Given the description of an element on the screen output the (x, y) to click on. 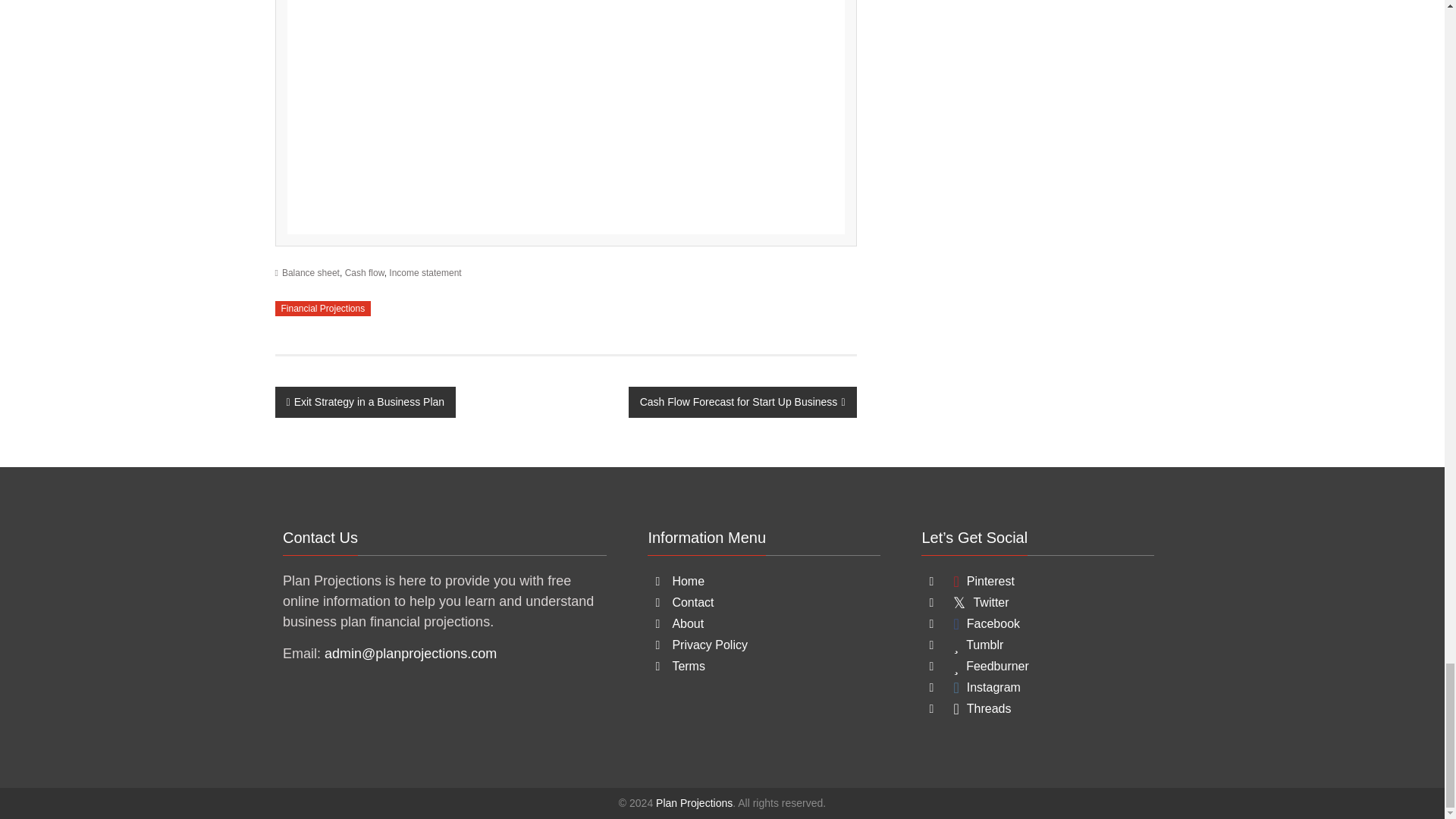
Balance sheet (310, 272)
Plan Projections (694, 802)
Financial Projections (323, 308)
Cash flow (364, 272)
Exit Strategy in a Business Plan (365, 401)
Advertisement (565, 117)
Income statement (424, 272)
Cash Flow Forecast for Start Up Business (742, 401)
